Given the description of an element on the screen output the (x, y) to click on. 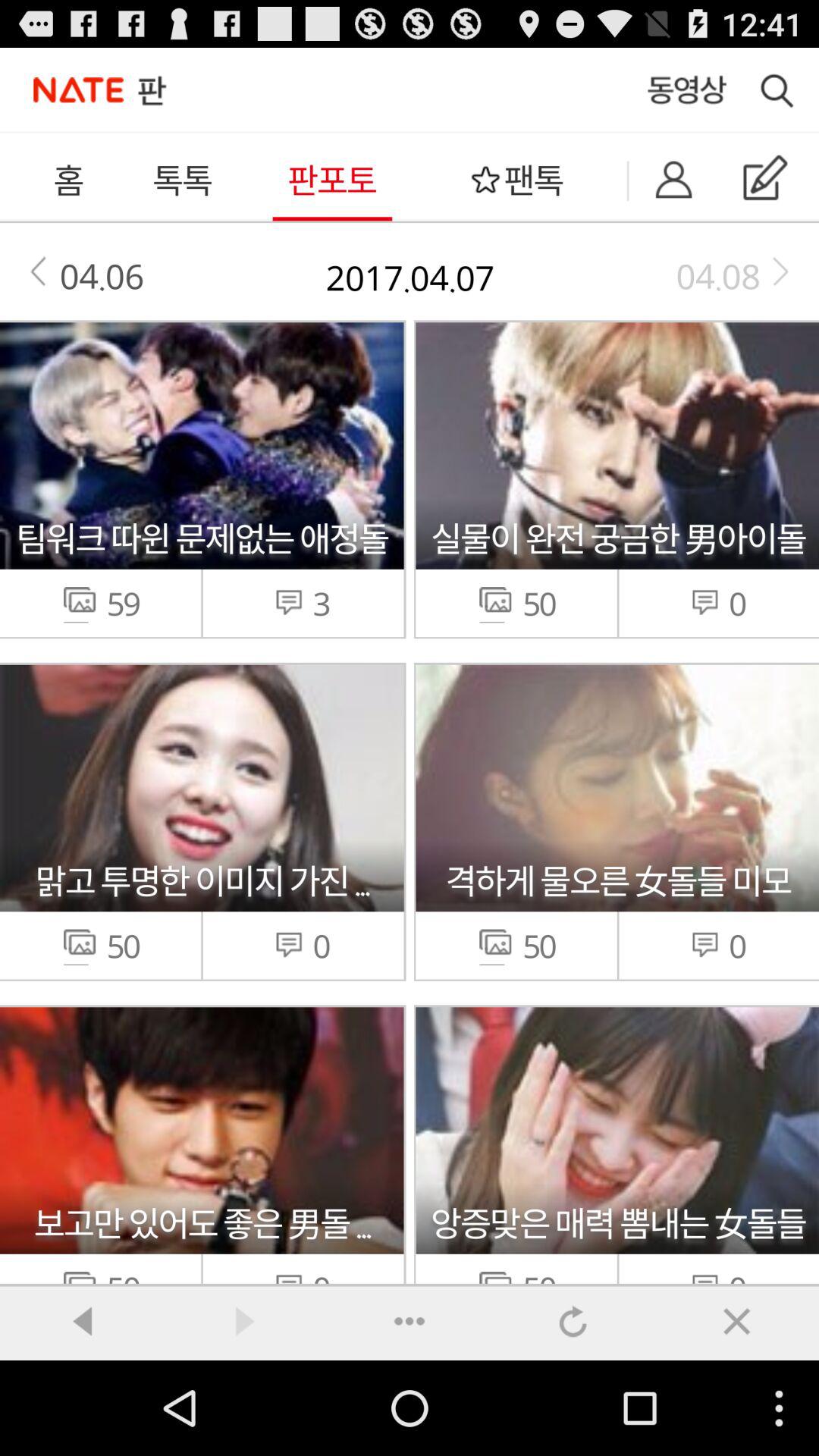
explore more menus (409, 1320)
